Given the description of an element on the screen output the (x, y) to click on. 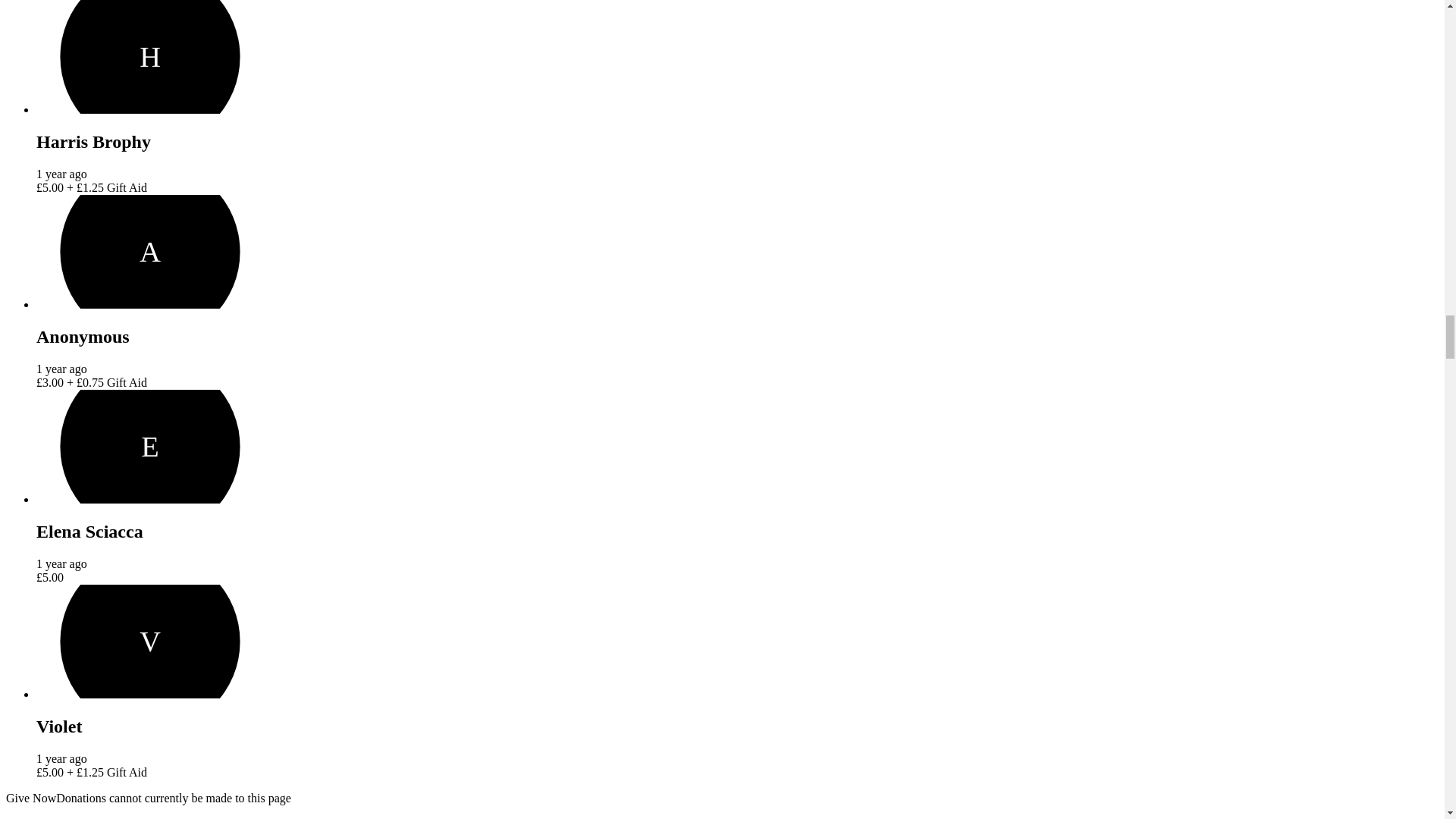
A (149, 251)
H (149, 56)
E (149, 446)
V (149, 641)
